Given the description of an element on the screen output the (x, y) to click on. 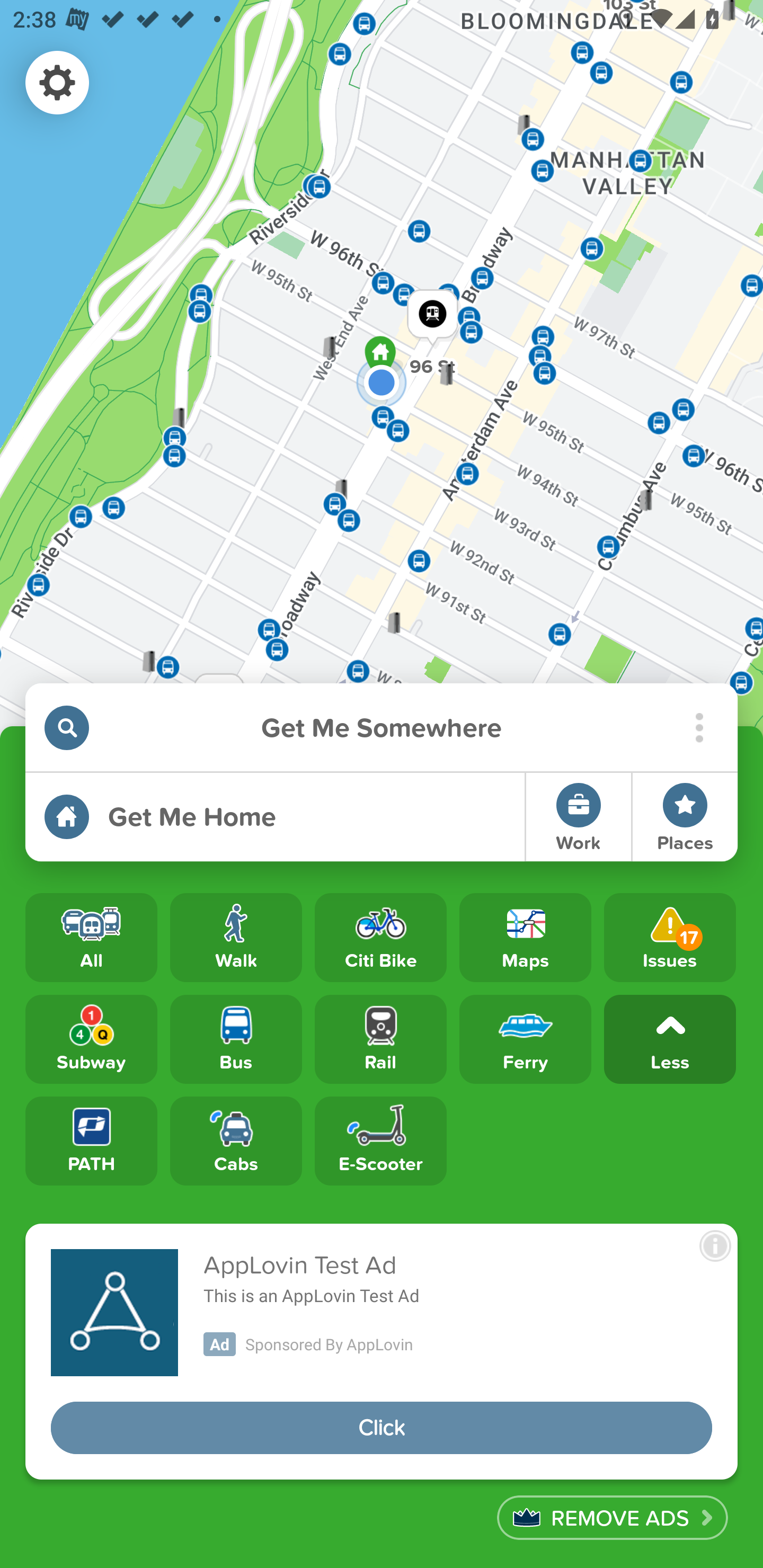
Cabs (236, 1140)
